Given the description of an element on the screen output the (x, y) to click on. 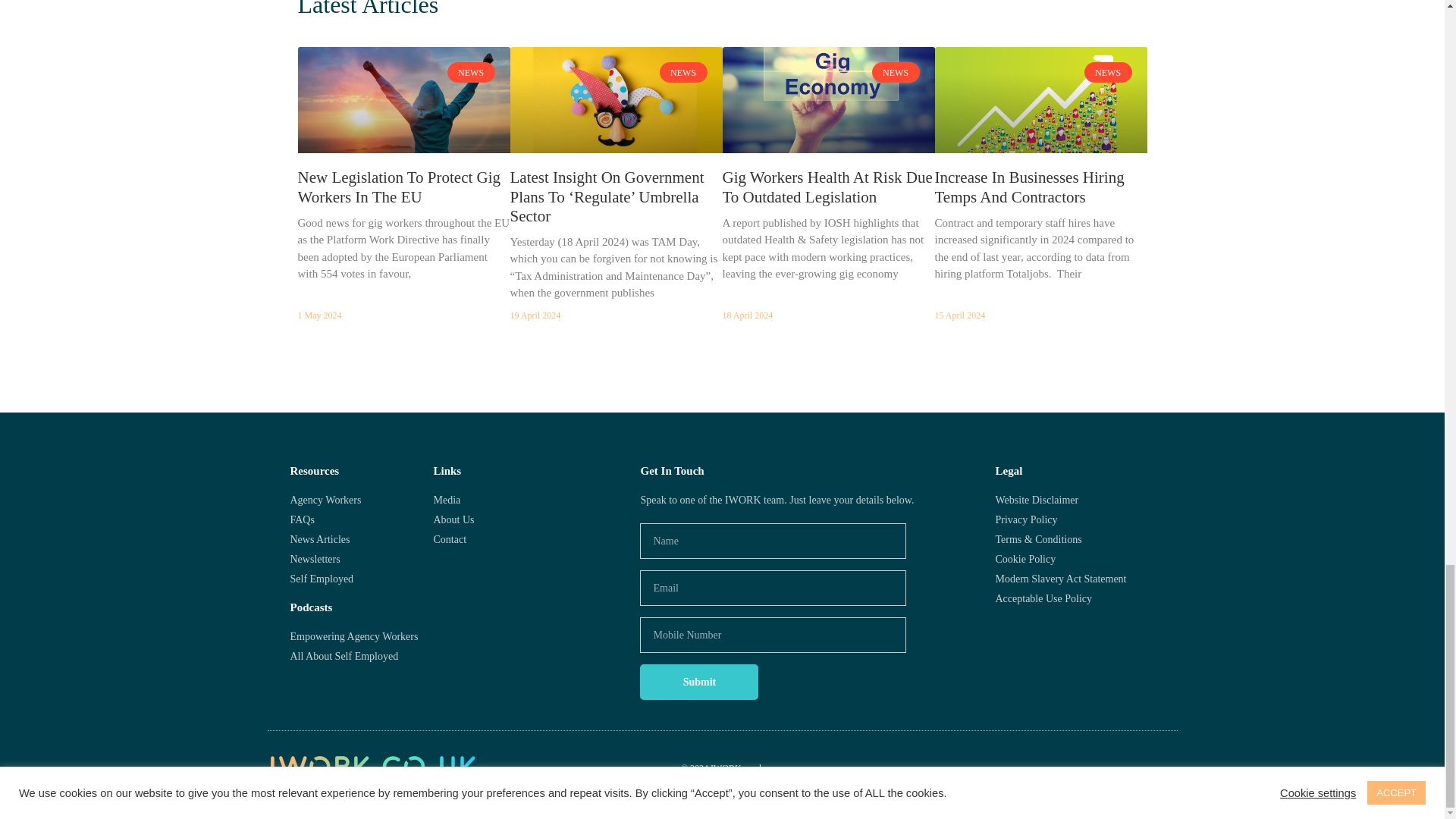
Increase In Businesses Hiring Temps And Contractors (1029, 186)
Agency Workers (360, 499)
FAQs (360, 519)
New Legislation To Protect Gig Workers In The EU (398, 186)
Gig Workers Health At Risk Due To Outdated Legislation (826, 186)
